Given the description of an element on the screen output the (x, y) to click on. 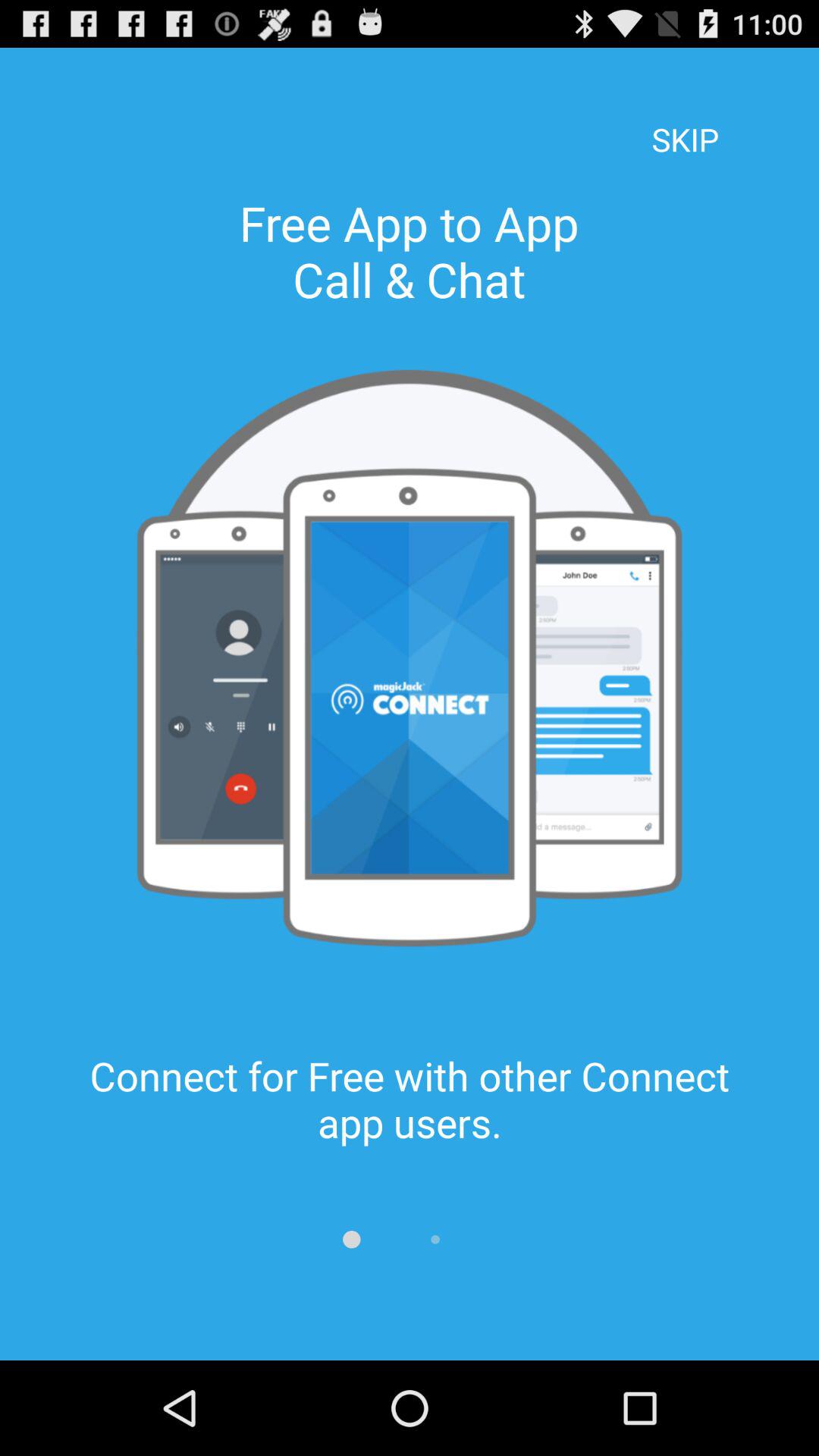
swipe until the skip (685, 119)
